Given the description of an element on the screen output the (x, y) to click on. 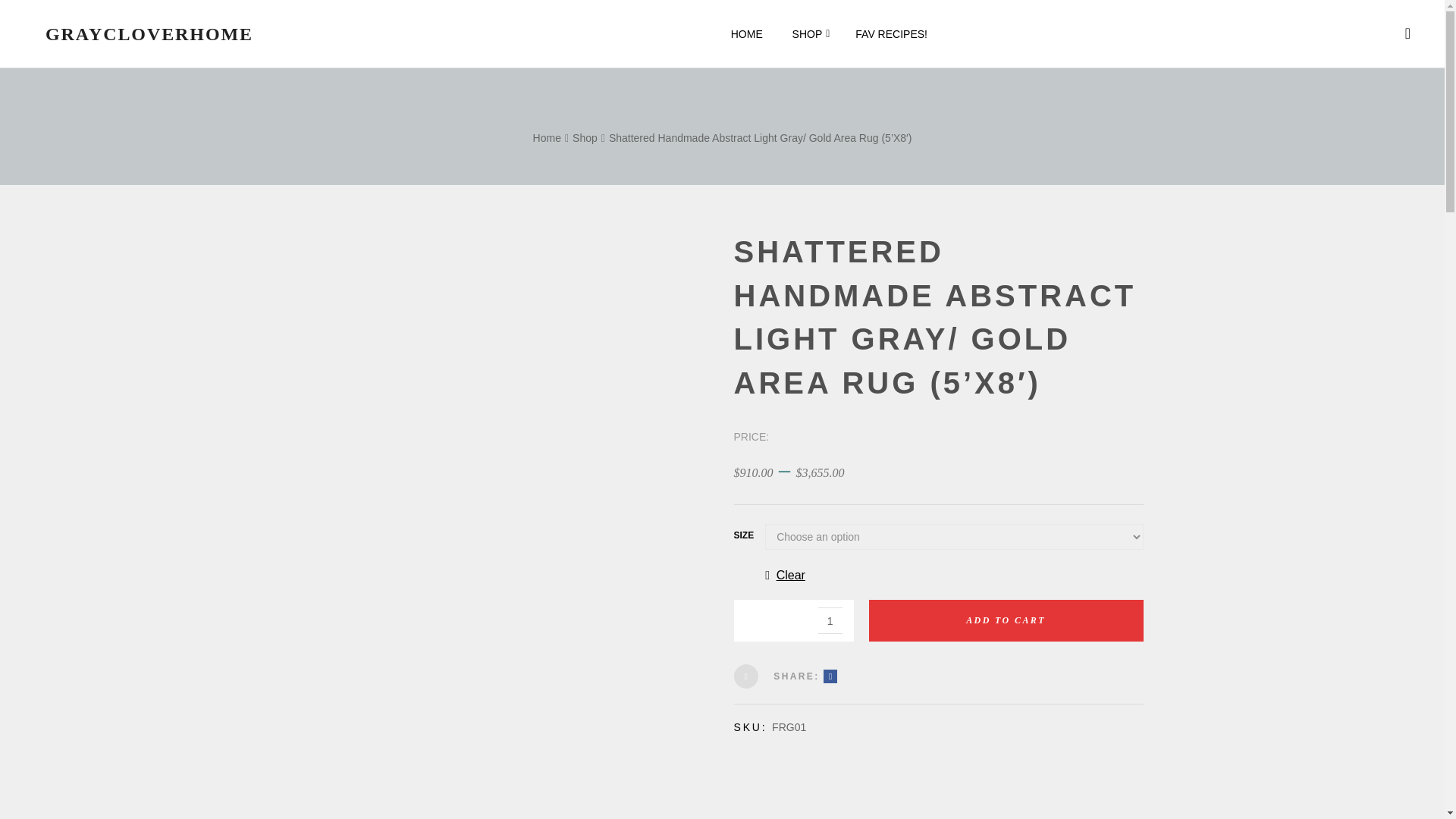
Home (546, 137)
FAV RECIPES! (891, 33)
Home (584, 137)
SHOP (809, 33)
Shop (584, 137)
Clear (953, 575)
Share on facebook (830, 676)
ADD TO CART (1005, 620)
1 (830, 620)
HOME (746, 33)
